Given the description of an element on the screen output the (x, y) to click on. 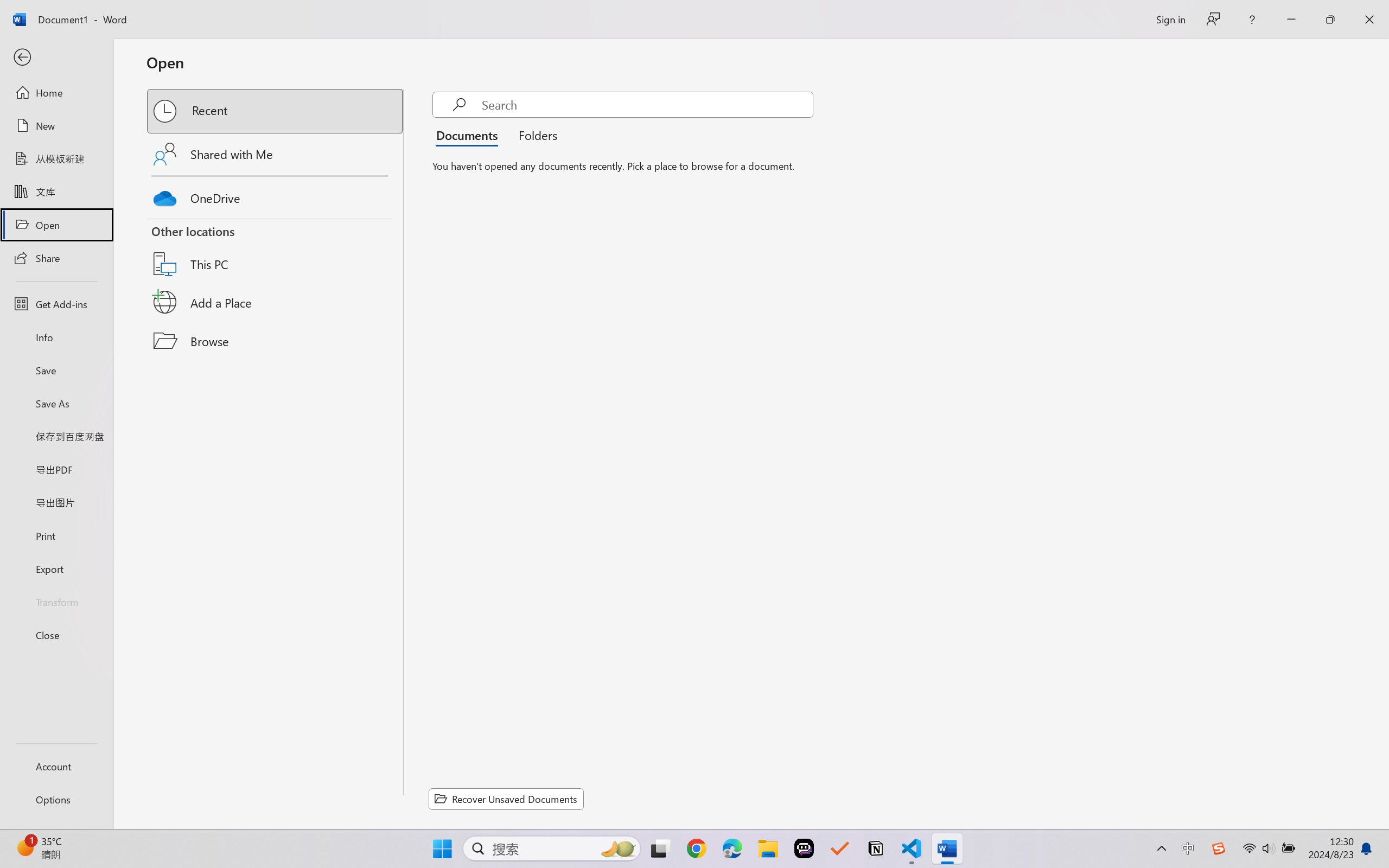
Browse (275, 340)
Export (56, 568)
Recover Unsaved Documents (506, 798)
Documents (469, 134)
Account (56, 765)
